Given the description of an element on the screen output the (x, y) to click on. 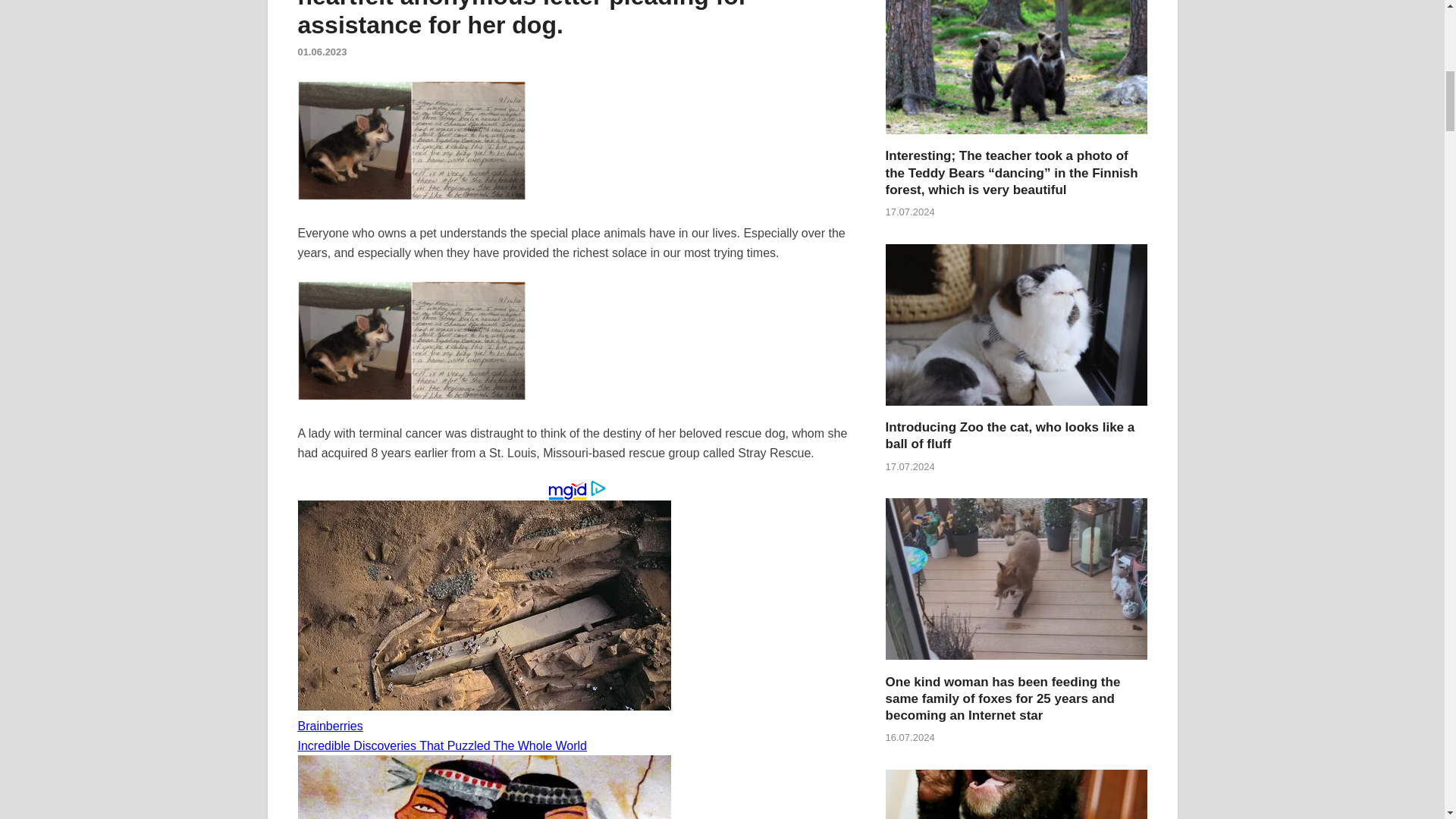
Introducing Zoo the cat, who looks like a ball of fluff (1010, 435)
Introducing Zoo the cat, who looks like a ball of fluff (1016, 409)
01.06.2023 (321, 51)
